Given the description of an element on the screen output the (x, y) to click on. 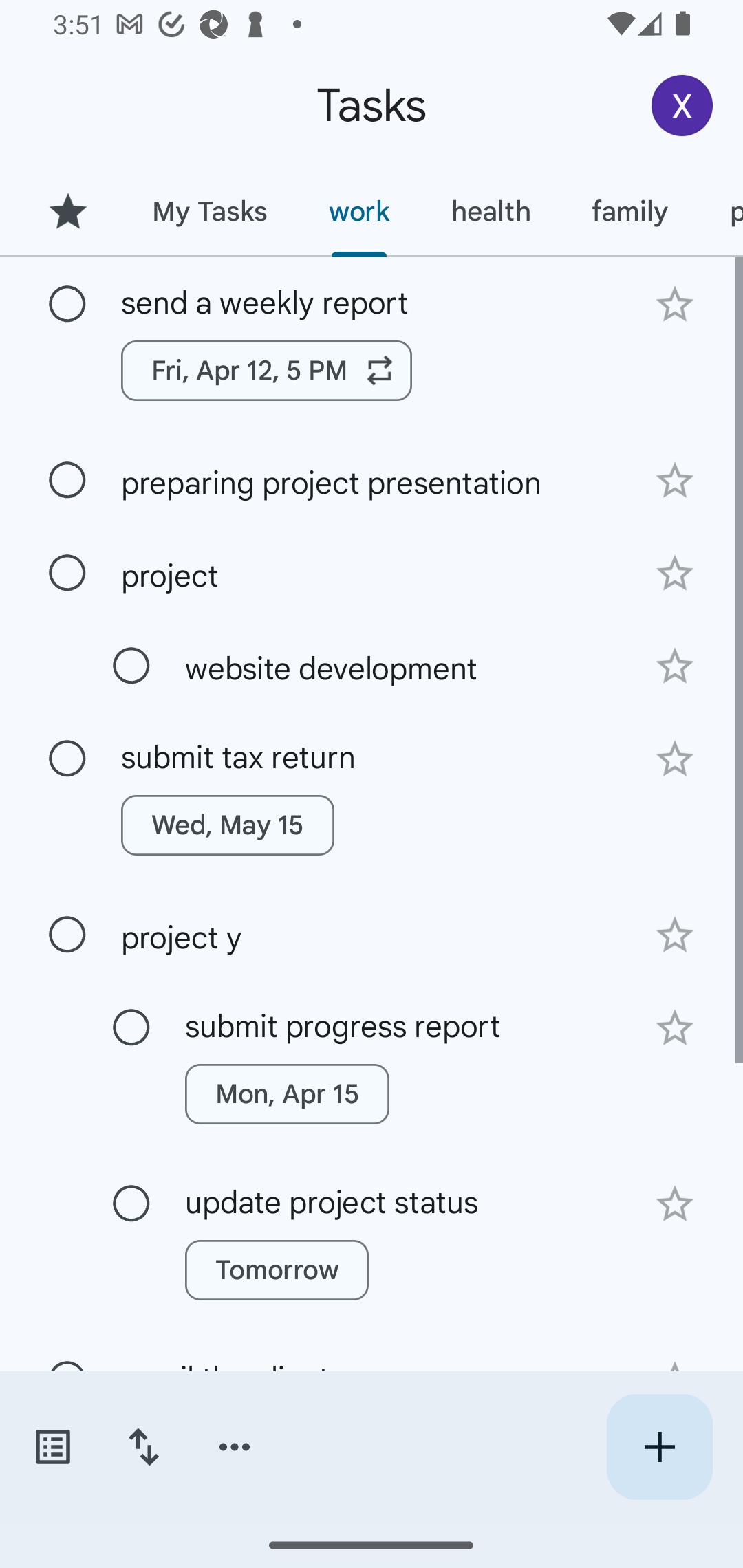
Starred (67, 211)
My Tasks (209, 211)
health (490, 211)
family (629, 211)
Add star (674, 303)
Mark as complete (67, 304)
Fri, Apr 12, 5 PM (266, 369)
Add star (674, 480)
Mark as complete (67, 480)
Add star (674, 573)
Mark as complete (67, 572)
Add star (674, 665)
Mark as complete (131, 666)
Add star (674, 758)
Mark as complete (67, 759)
Wed, May 15 (227, 824)
Add star (674, 935)
Mark as complete (67, 935)
Add star (674, 1028)
Mark as complete (131, 1027)
Mon, Apr 15 (287, 1093)
Add star (674, 1203)
Mark as complete (131, 1204)
Tomorrow (276, 1269)
Switch task lists (52, 1447)
Create new task (659, 1446)
Change sort order (143, 1446)
More options (234, 1446)
